Given the description of an element on the screen output the (x, y) to click on. 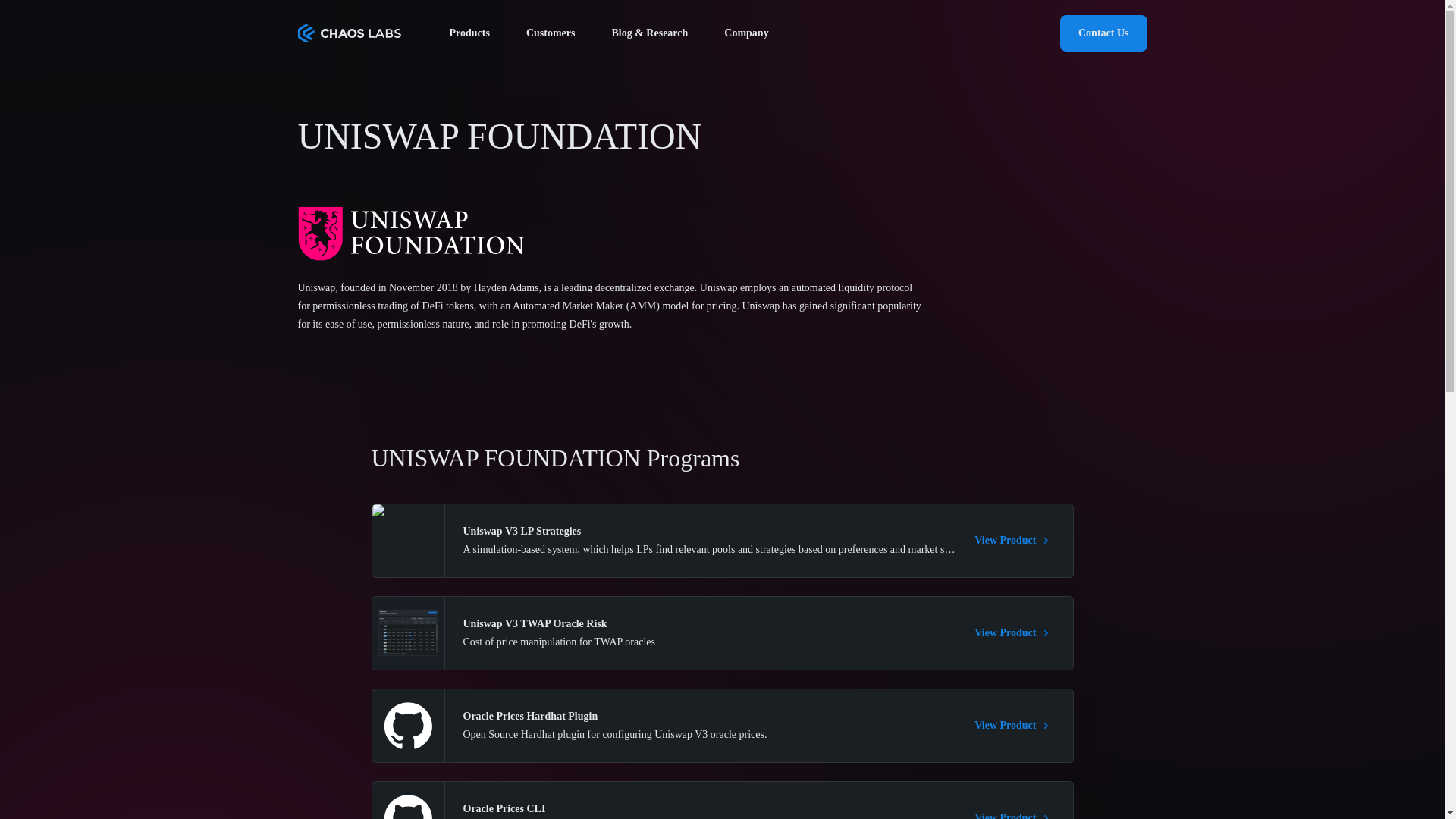
Contact Us (1103, 33)
View Product (1014, 725)
View Product (1014, 540)
View Product (1014, 633)
Customers (550, 32)
View Product (1014, 814)
